Given the description of an element on the screen output the (x, y) to click on. 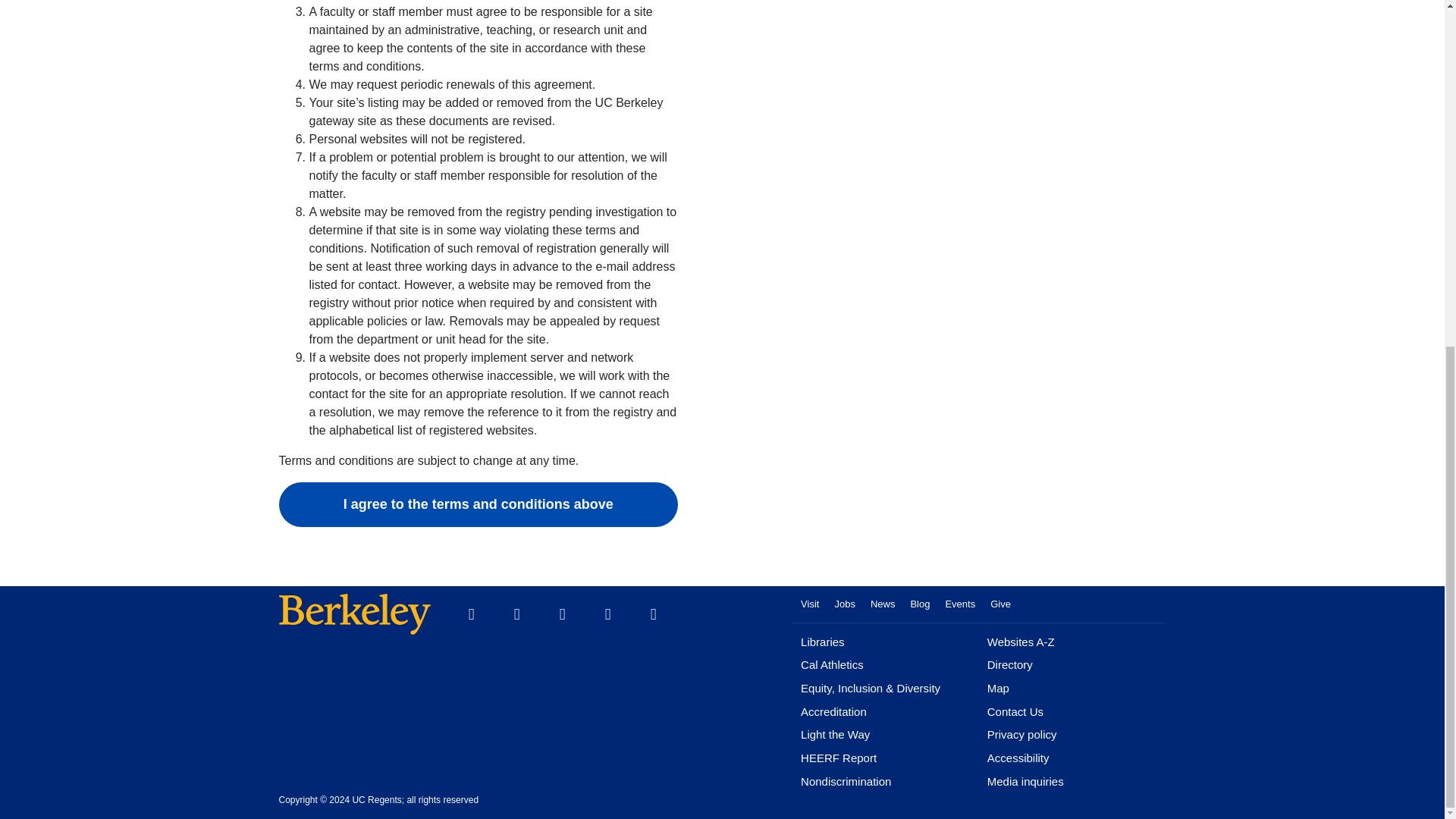
Twitter (517, 614)
Instagram (607, 614)
Facebook (470, 614)
Medium (653, 614)
I agree to the terms and conditions above (478, 504)
Youtube (562, 614)
